Given the description of an element on the screen output the (x, y) to click on. 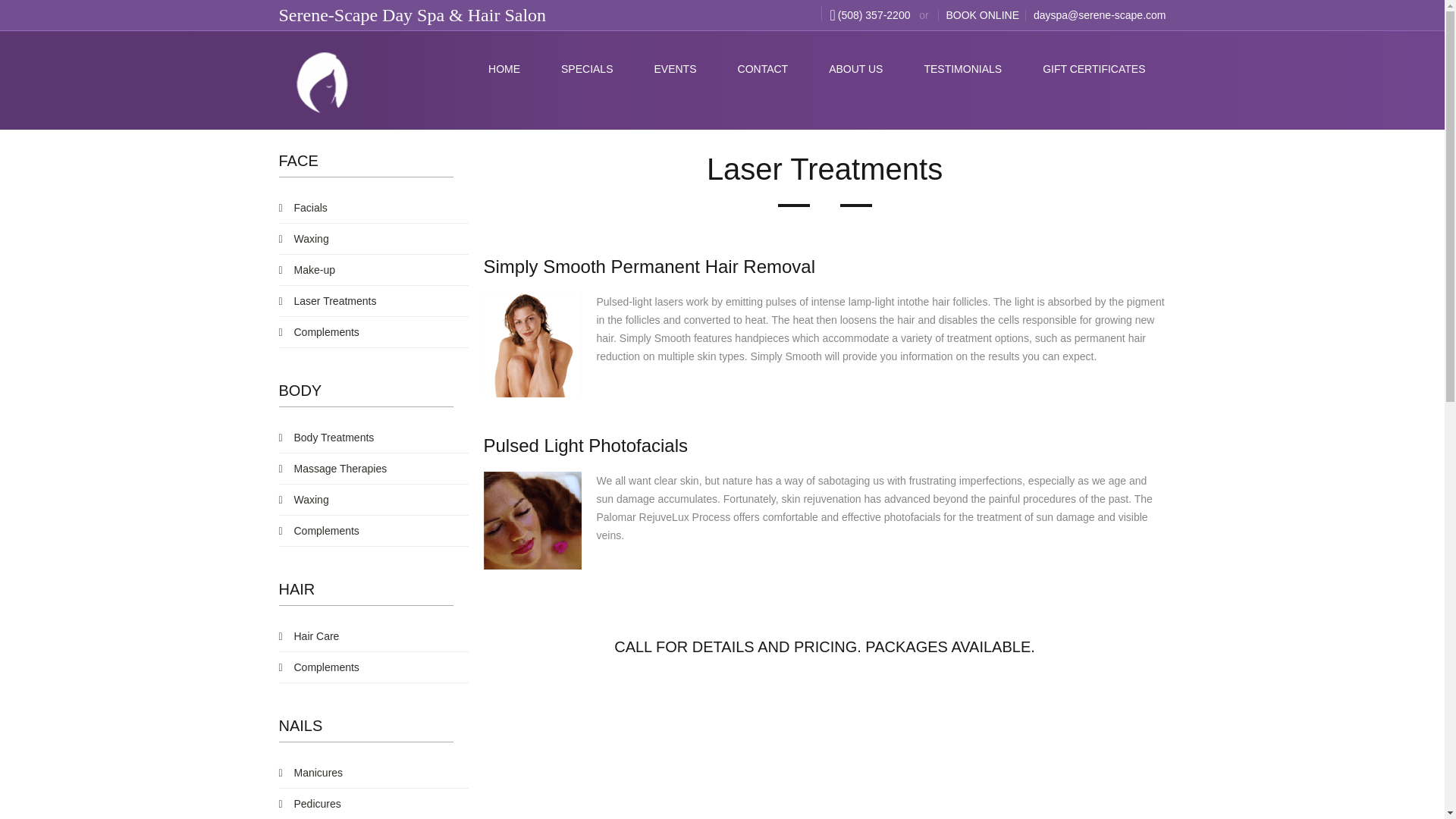
Waxing (373, 240)
GIFT CERTIFICATES (1094, 68)
Laser Treatments (373, 302)
Complements (373, 669)
Massage Therapies (373, 470)
Manicures (373, 774)
Complements (373, 334)
ABOUT US (855, 68)
HOME (504, 68)
EVENTS (674, 68)
